Given the description of an element on the screen output the (x, y) to click on. 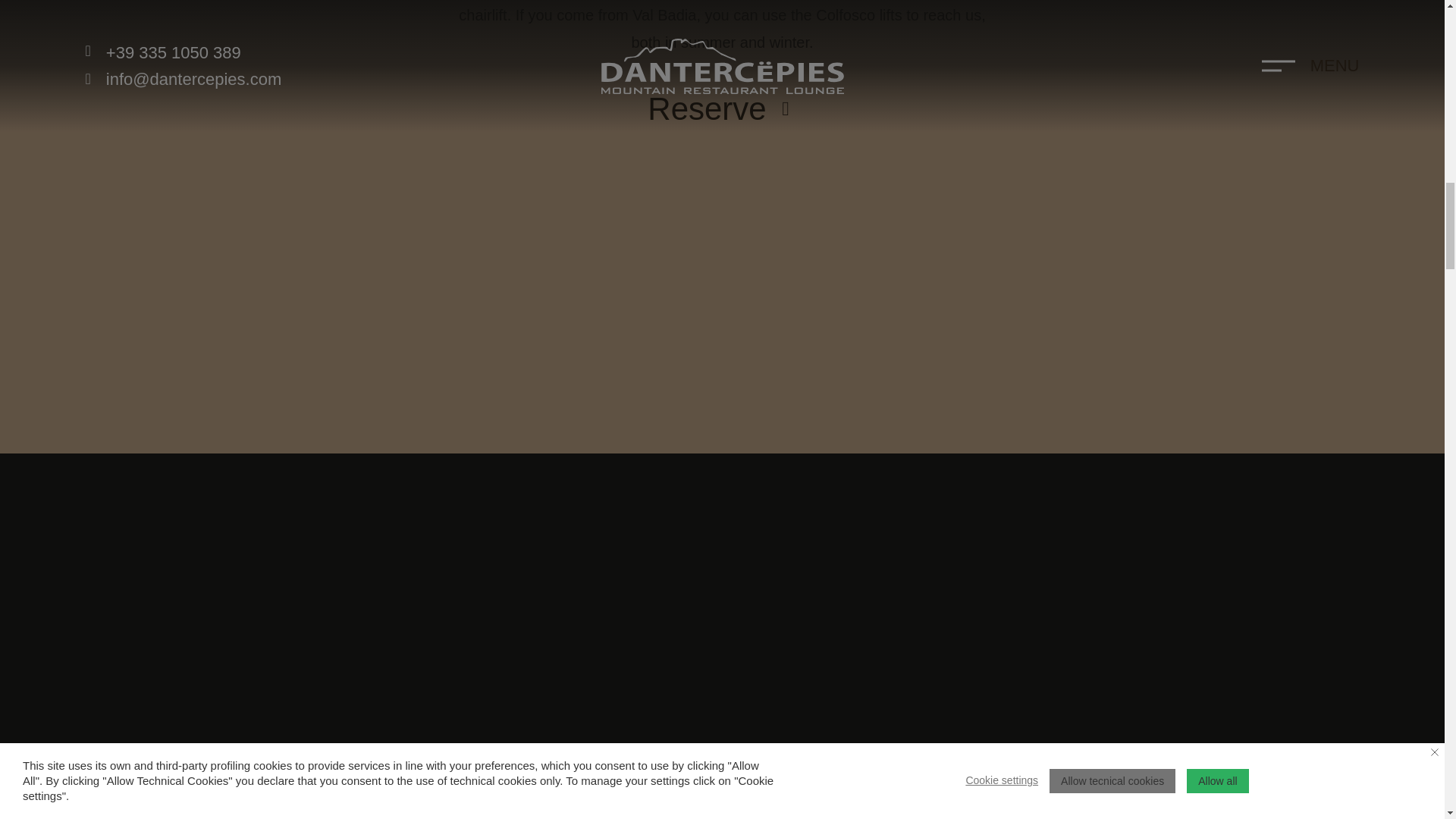
Reserve (721, 109)
